Given the description of an element on the screen output the (x, y) to click on. 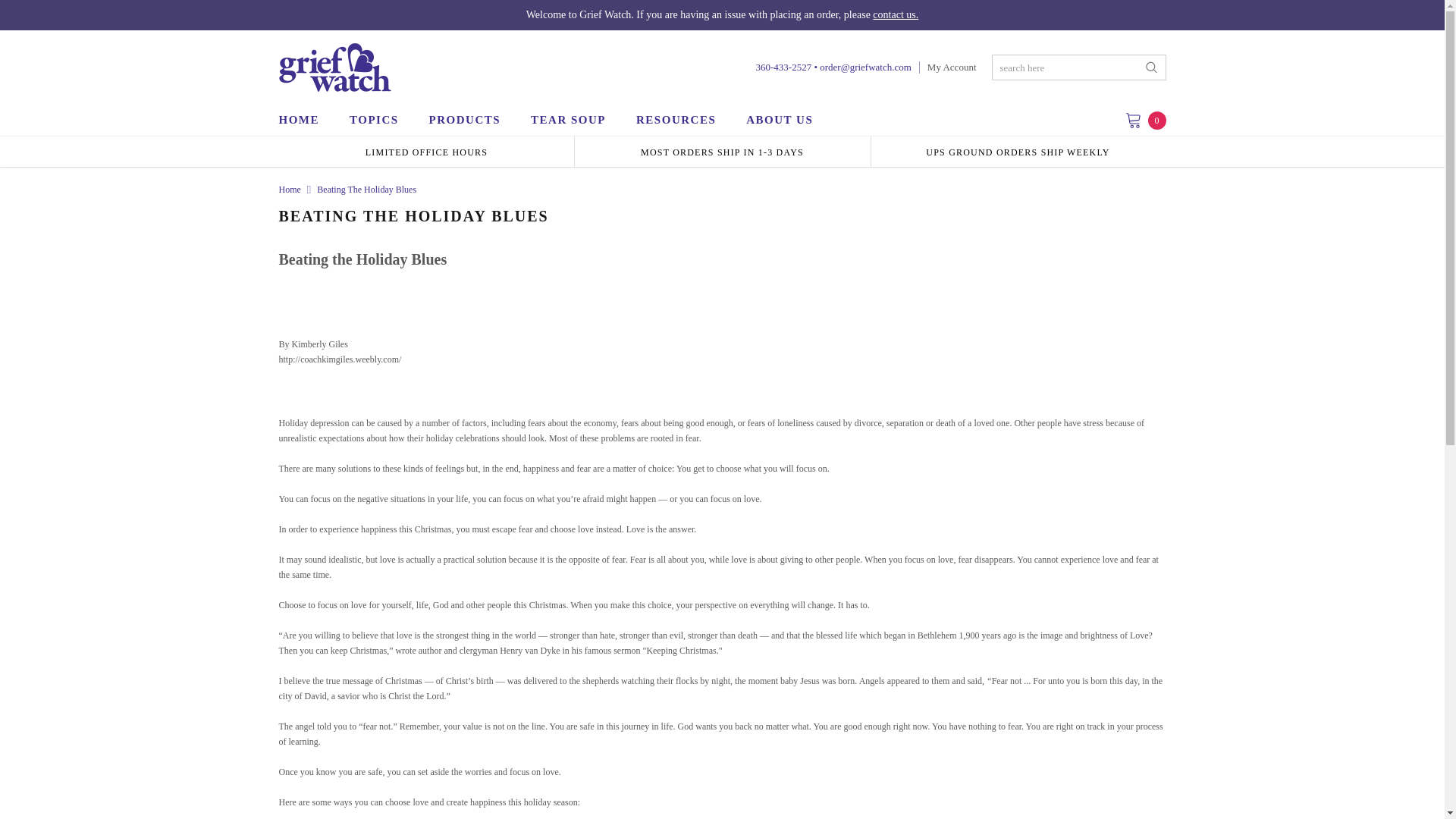
contact us. (895, 14)
PRODUCTS (464, 119)
TOPICS (373, 119)
My Account (951, 67)
HOME (306, 119)
